Given the description of an element on the screen output the (x, y) to click on. 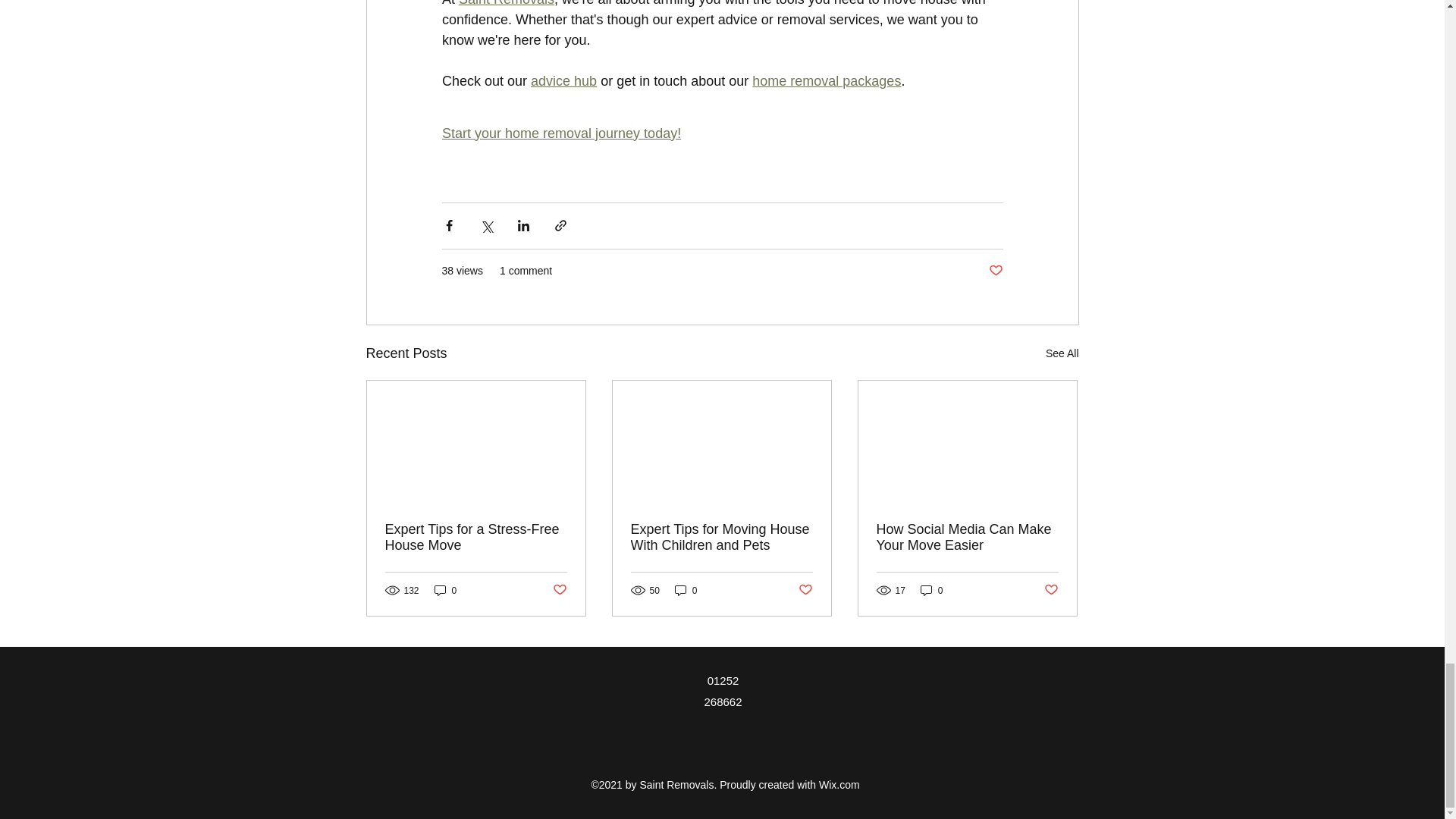
Saint Removals (506, 3)
advice hub (563, 80)
Start your home removal journey today! (560, 133)
home removal packages (826, 80)
